Given the description of an element on the screen output the (x, y) to click on. 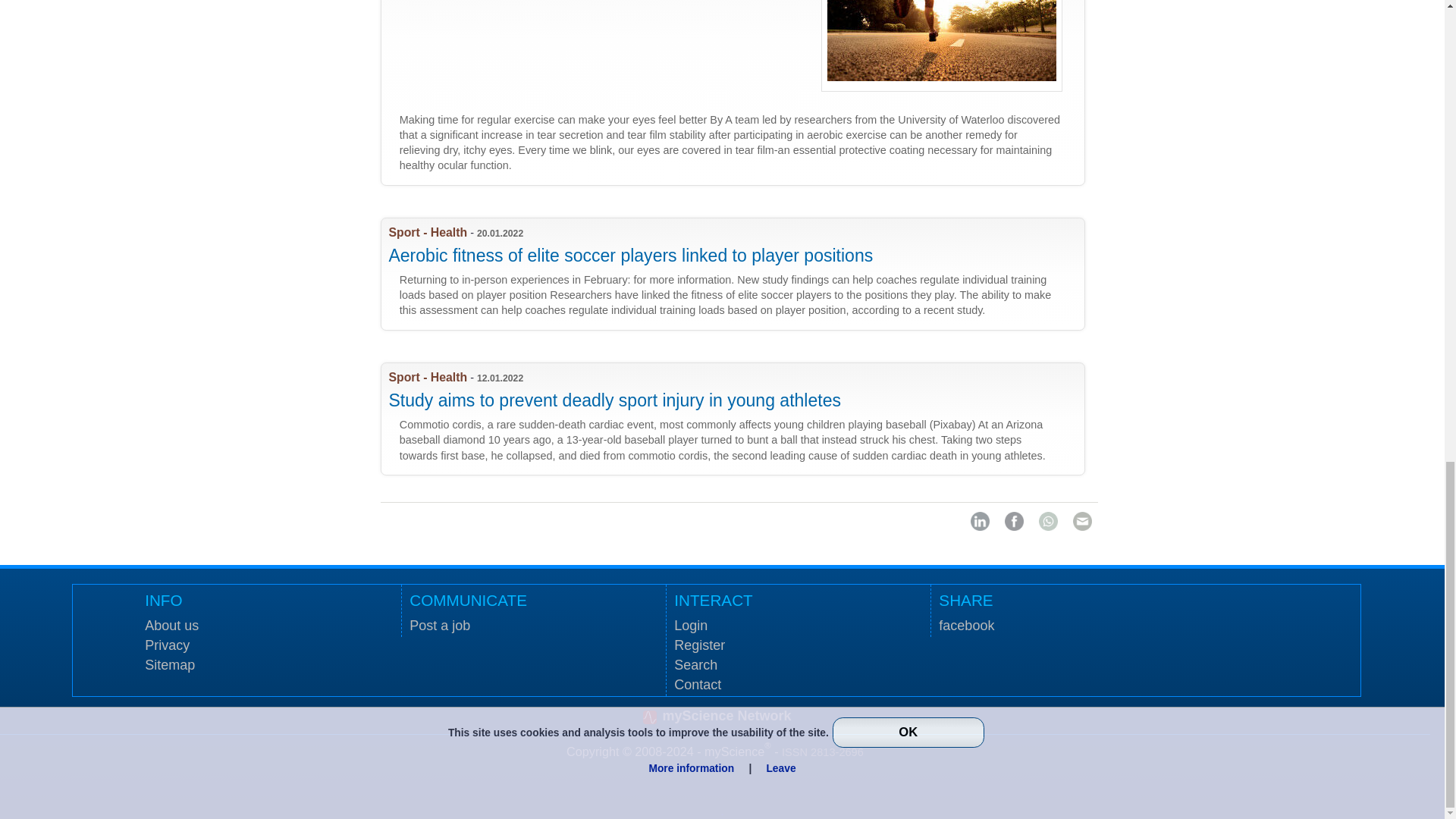
Share on Facebook (1014, 521)
Share on WhatsApp Web (1047, 521)
WATERLOO (738, 92)
Share on LinkedIn (980, 521)
UWO (738, 418)
WATERLOO (738, 273)
